Given the description of an element on the screen output the (x, y) to click on. 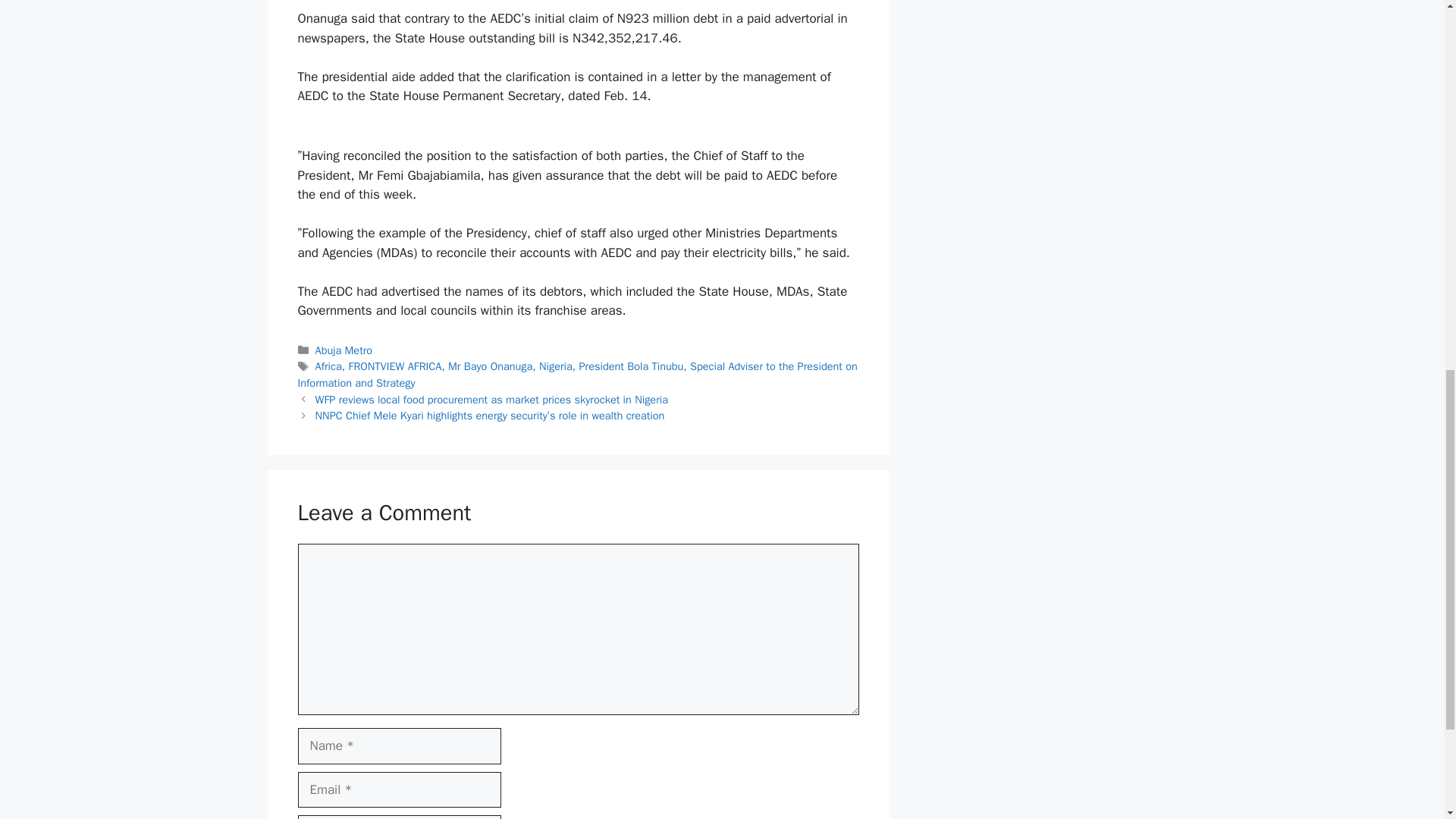
Nigeria (555, 366)
Special Adviser to the President on Information and Strategy (577, 374)
Africa (328, 366)
Mr Bayo Onanuga (490, 366)
President Bola Tinubu (631, 366)
FRONTVIEW AFRICA (394, 366)
Abuja Metro (343, 350)
